Given the description of an element on the screen output the (x, y) to click on. 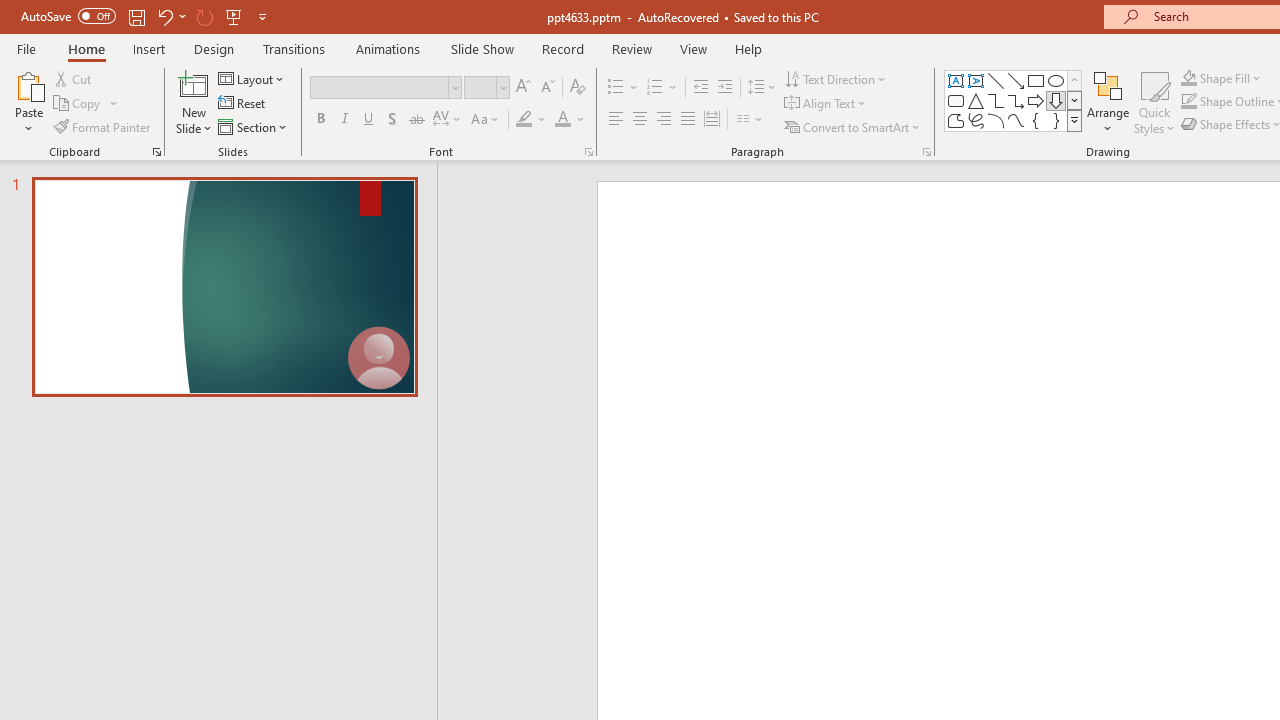
Shape Fill Orange, Accent 2 (1188, 78)
